Given the description of an element on the screen output the (x, y) to click on. 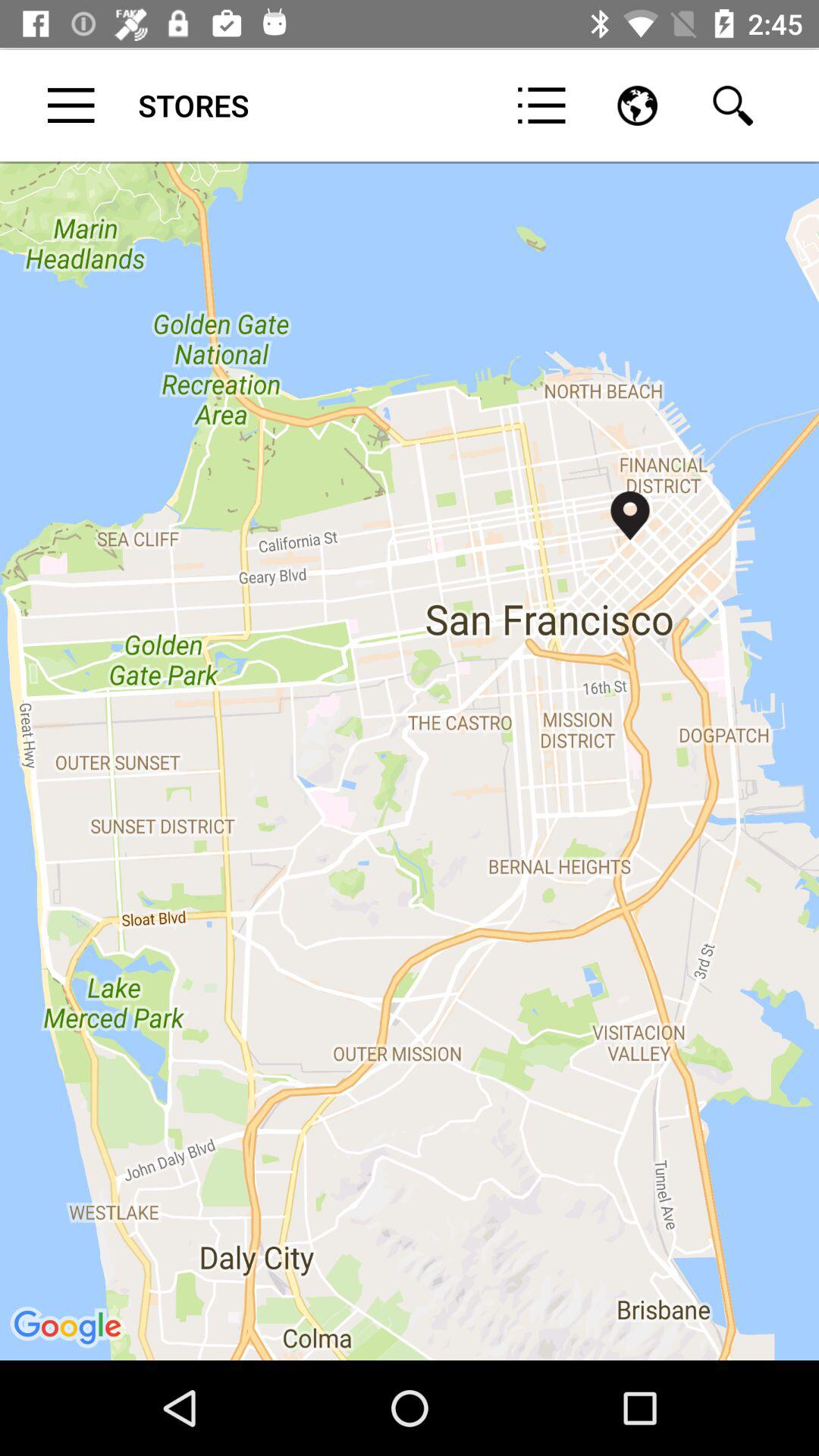
turn on icon next to the stores icon (70, 105)
